Given the description of an element on the screen output the (x, y) to click on. 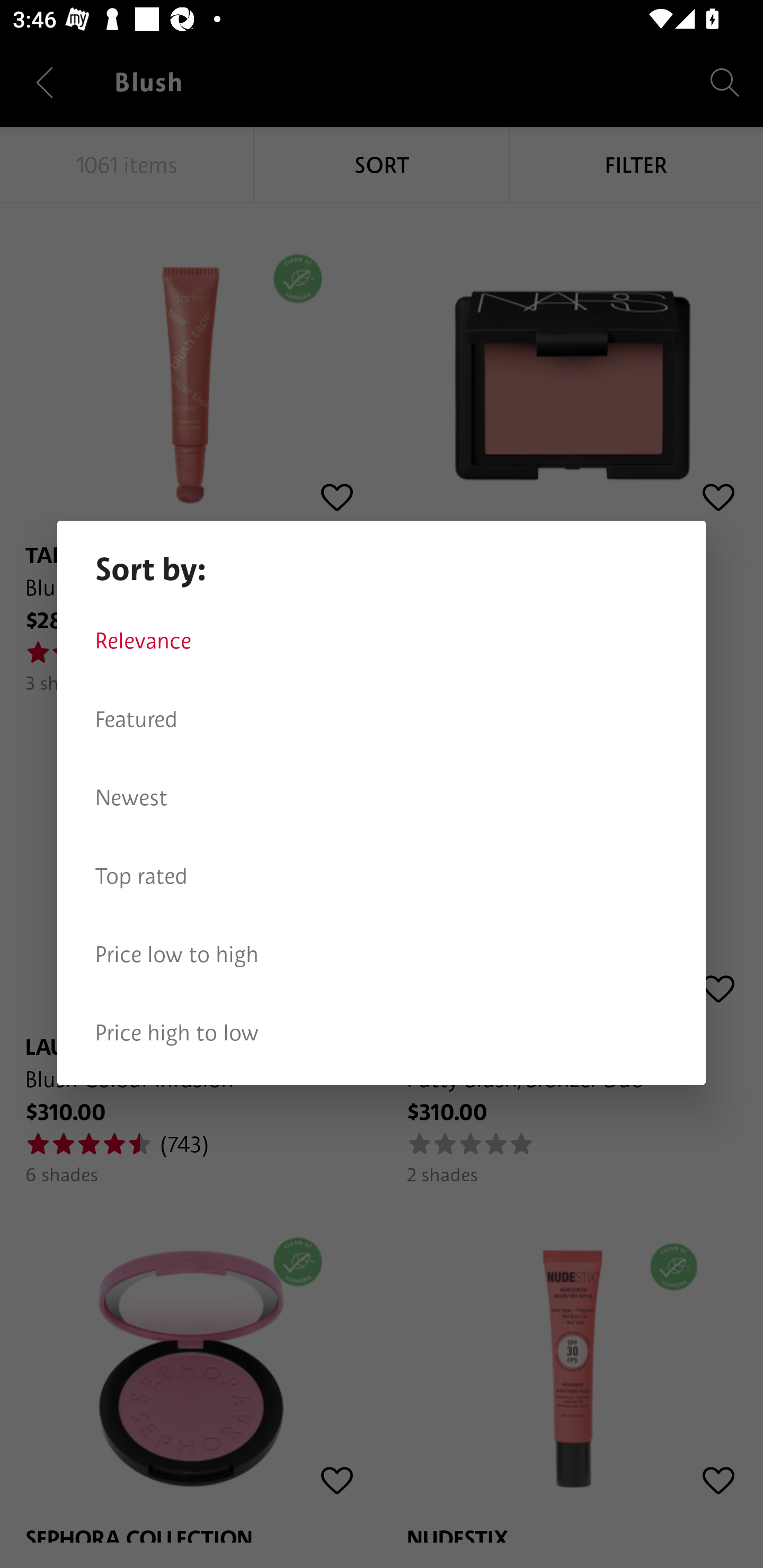
Relevance (381, 641)
Featured (381, 719)
Newest (381, 797)
Top rated (381, 876)
Price low to high (381, 954)
Price high to low (381, 1033)
